Given the description of an element on the screen output the (x, y) to click on. 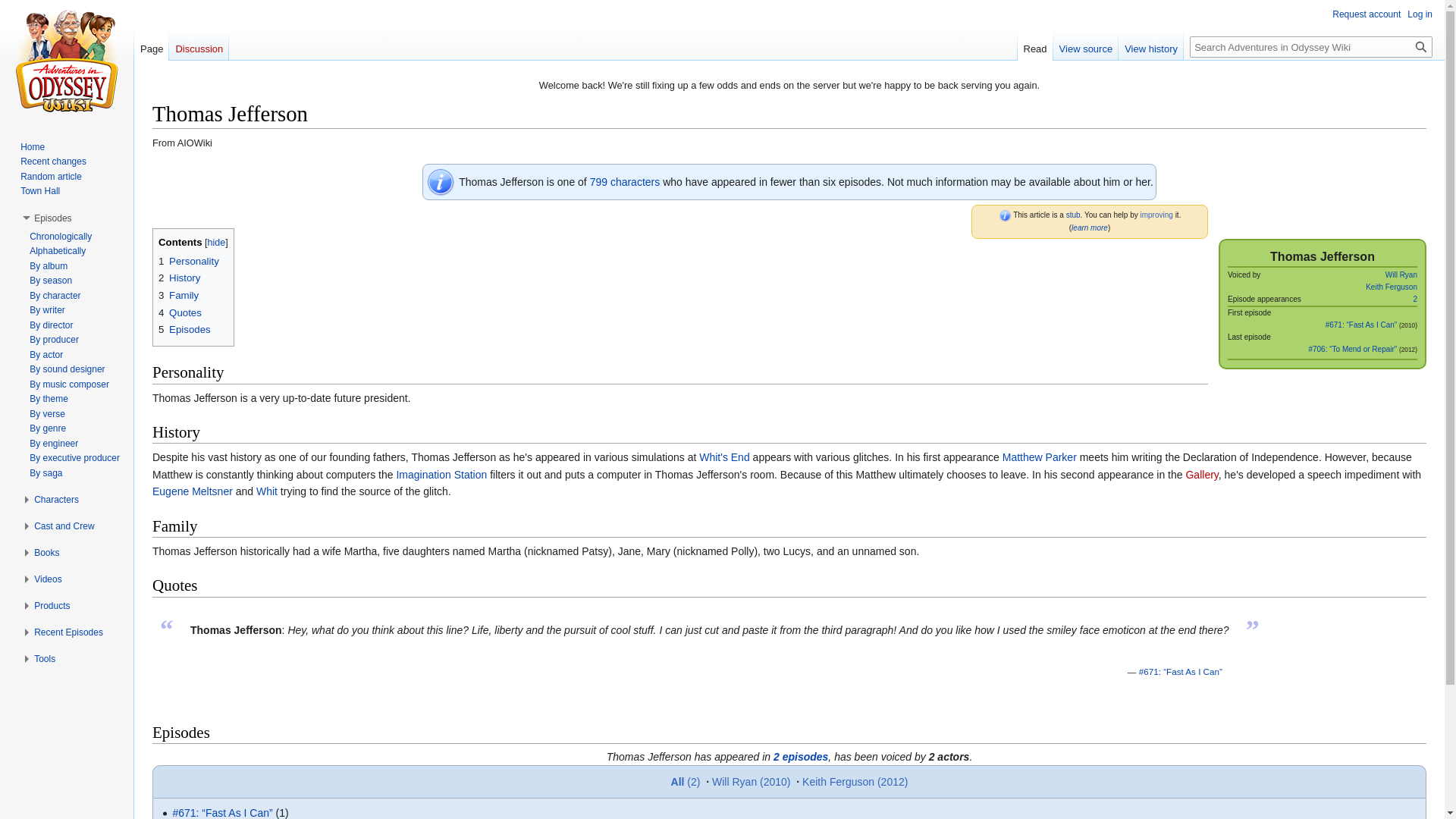
John Whittaker (267, 491)
Imagination Station (441, 474)
Matthew Parker (1040, 457)
Whit's End (723, 457)
Eugene Meltsner (192, 491)
Will Ryan (1401, 275)
Imagination Station (441, 474)
Adventures in Odyssey Wiki:Stubs (1072, 214)
Eugene Meltsner (192, 491)
Go (1420, 46)
1 Personality (188, 260)
improving (1156, 214)
4 Quotes (180, 312)
799 characters (625, 182)
Gallery (1201, 474)
